Given the description of an element on the screen output the (x, y) to click on. 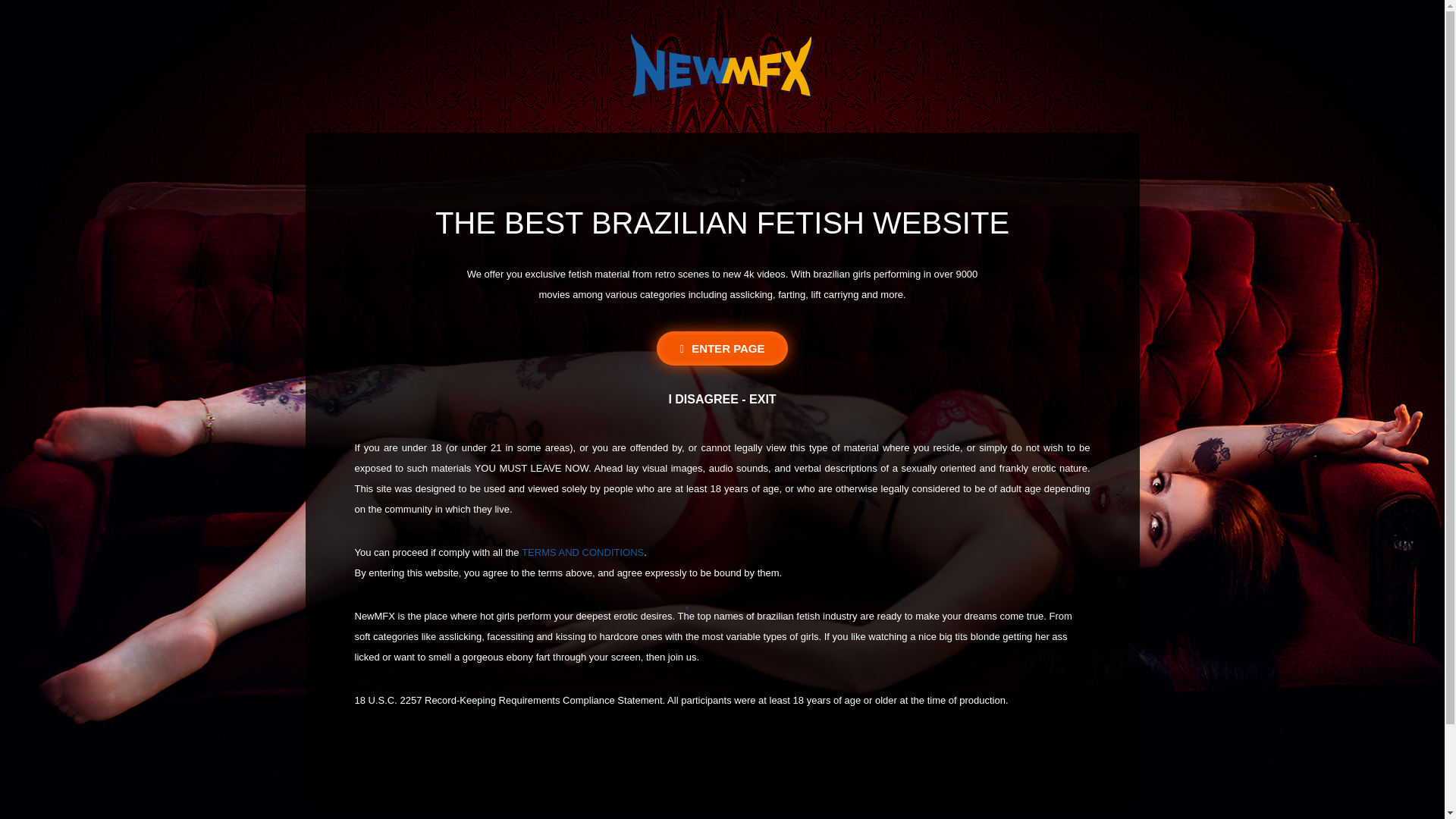
I DISAGREE - EXIT (722, 399)
ENTER PAGE (721, 348)
TERMS AND CONDITIONS (582, 552)
New MFX (721, 66)
